Given the description of an element on the screen output the (x, y) to click on. 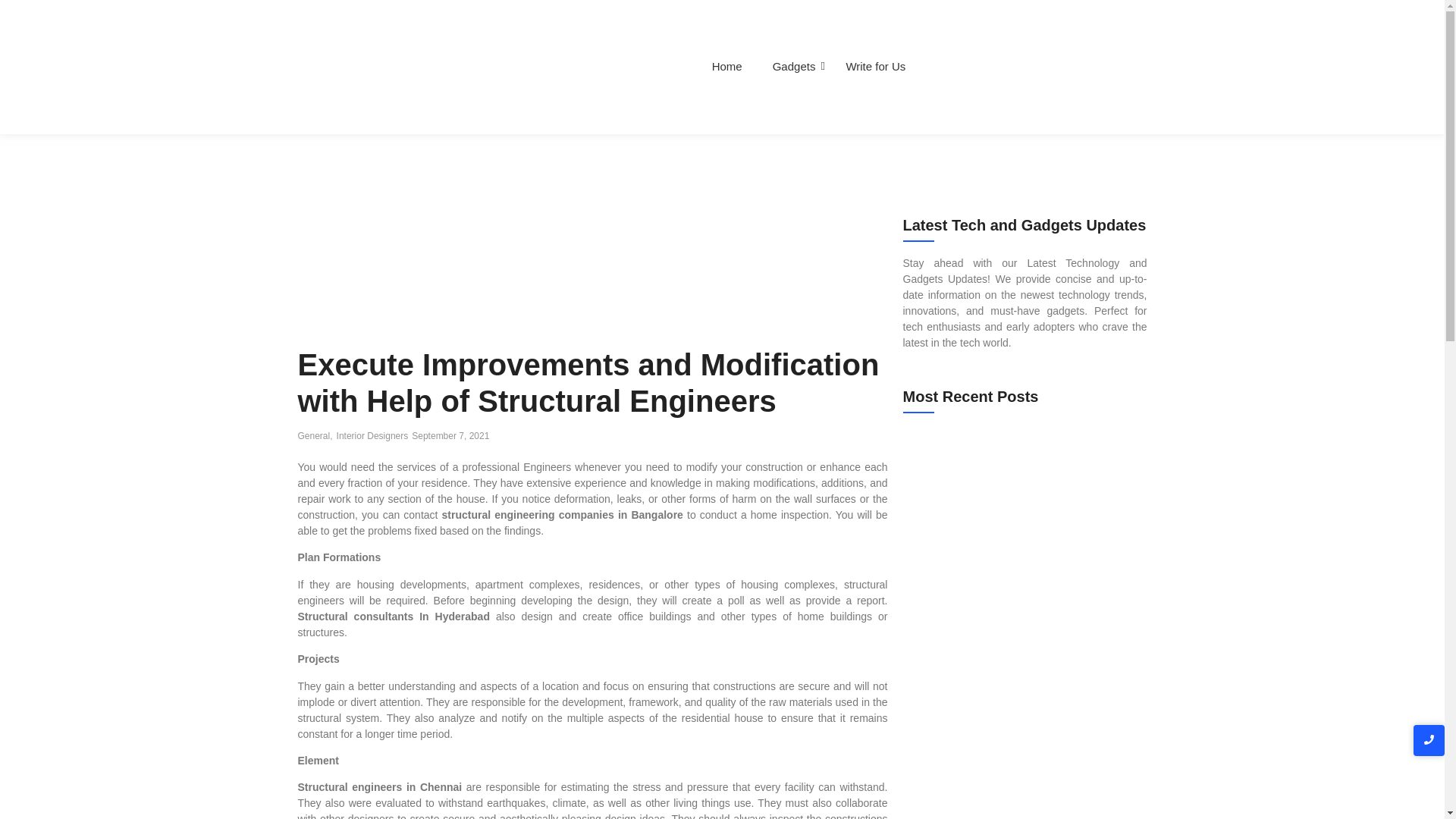
Write for Us (875, 66)
Gadgets (794, 66)
